Given the description of an element on the screen output the (x, y) to click on. 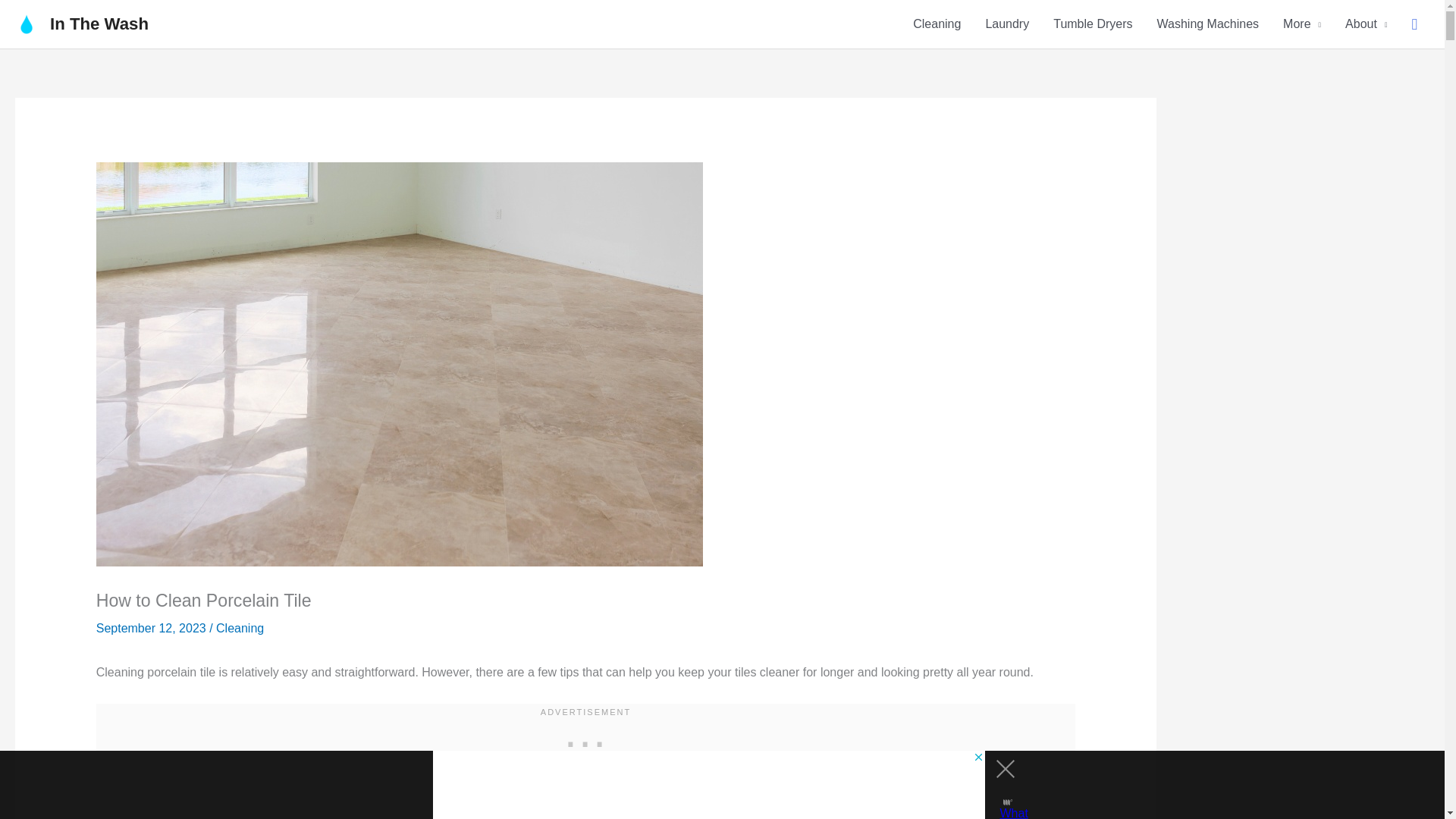
More (1302, 24)
In The Wash (98, 23)
About (1366, 24)
Tumble Dryers (1092, 24)
3rd party ad content (708, 785)
Washing Machines (1207, 24)
Laundry (1006, 24)
Cleaning (936, 24)
3rd party ad content (585, 740)
Cleaning (239, 627)
